Given the description of an element on the screen output the (x, y) to click on. 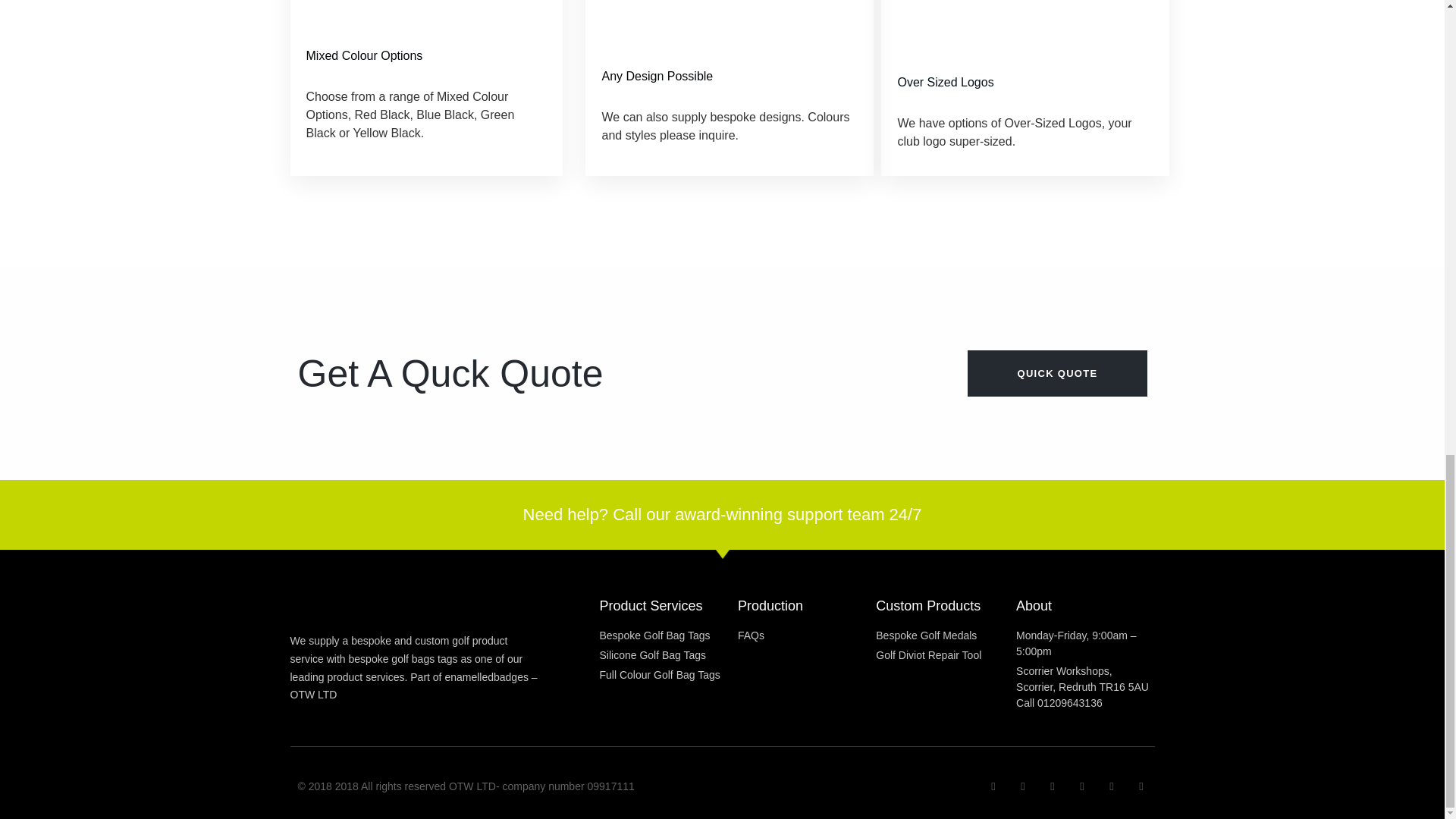
Full Colour Golf Bag Tags (667, 675)
Silicone Golf Bag Tags (667, 655)
QUICK QUOTE (1057, 373)
Bespoke Golf Bag Tags (667, 635)
Bespoke Golf Medals (946, 635)
Any Design Possible (728, 76)
FAQs (807, 635)
Over Sized Logos (1023, 82)
Mixed Colour Options (425, 55)
Golf Diviot Repair Tool (946, 655)
